Given the description of an element on the screen output the (x, y) to click on. 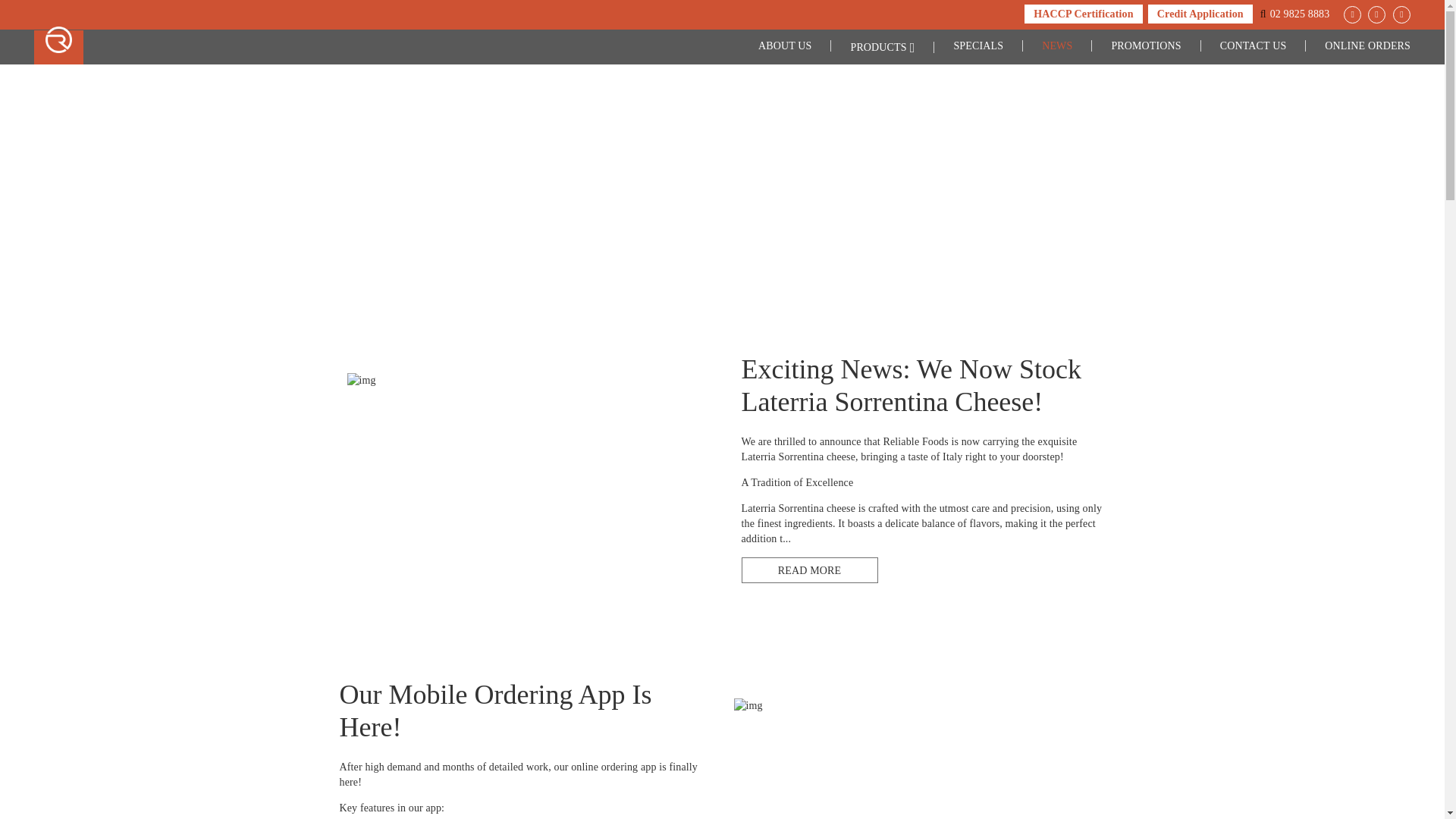
ABOUT US (785, 45)
Credit Application (1200, 13)
02 9825 8883 (1299, 13)
HACCP Certification (1083, 13)
PRODUCTS (882, 47)
